Given the description of an element on the screen output the (x, y) to click on. 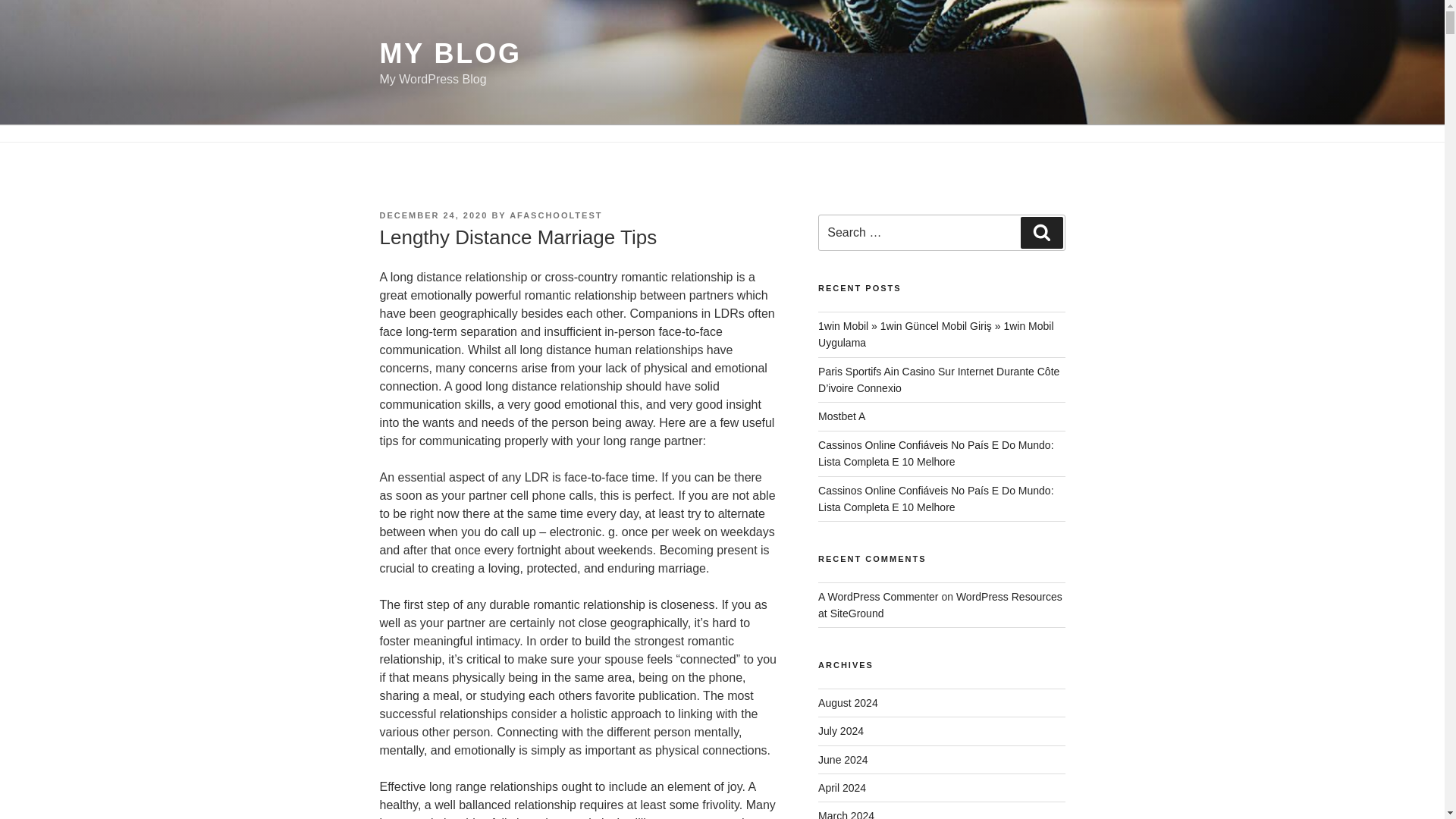
August 2024 (847, 702)
WordPress Resources at SiteGround (940, 604)
Mostbet A (841, 416)
A WordPress Commenter (877, 596)
March 2024 (846, 814)
April 2024 (842, 787)
Search (1041, 232)
July 2024 (840, 730)
MY BLOG (449, 52)
AFASCHOOLTEST (555, 215)
June 2024 (842, 759)
DECEMBER 24, 2020 (432, 215)
